Given the description of an element on the screen output the (x, y) to click on. 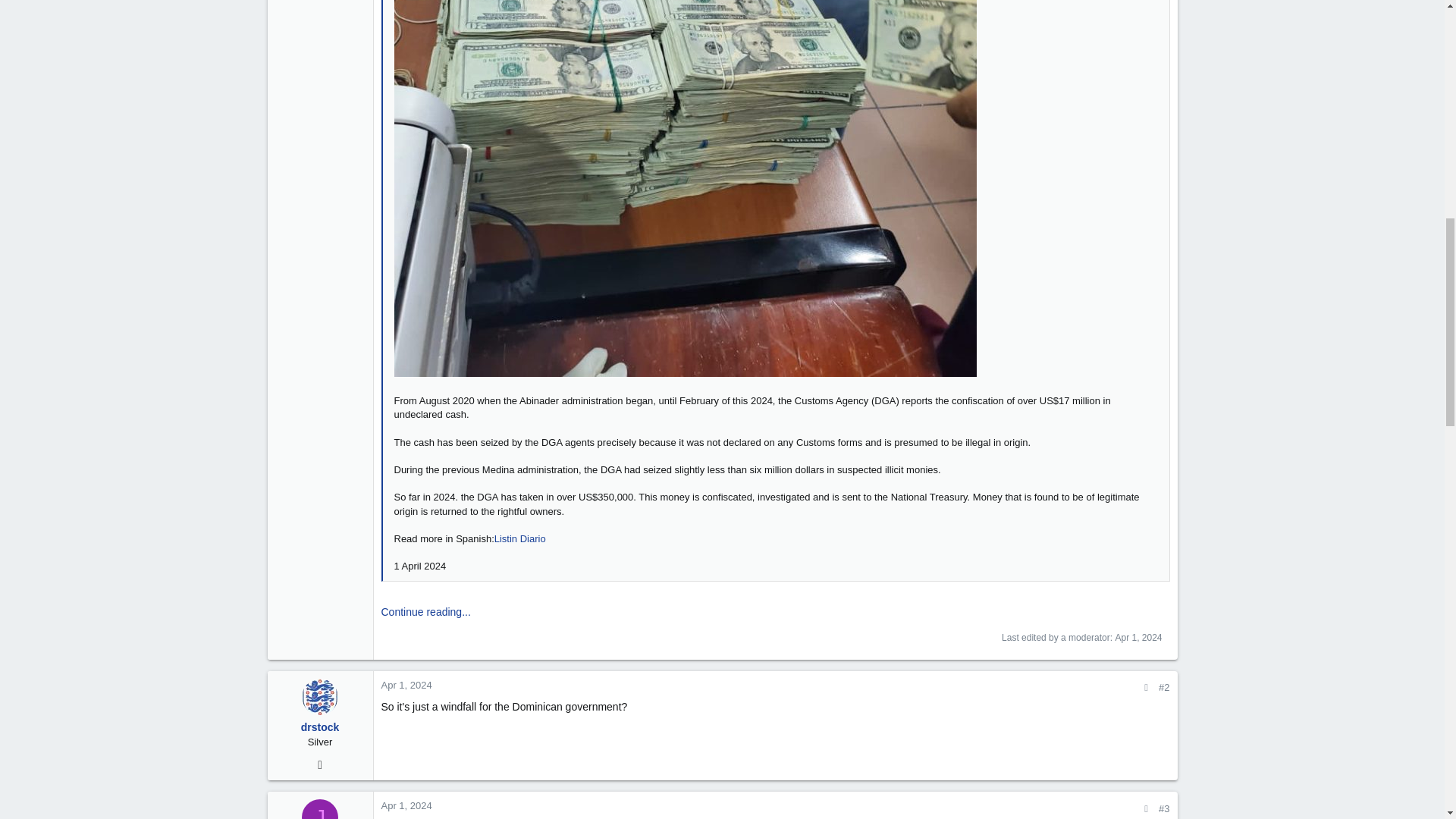
Apr 1, 2024 at 9:55 AM (1138, 637)
